Given the description of an element on the screen output the (x, y) to click on. 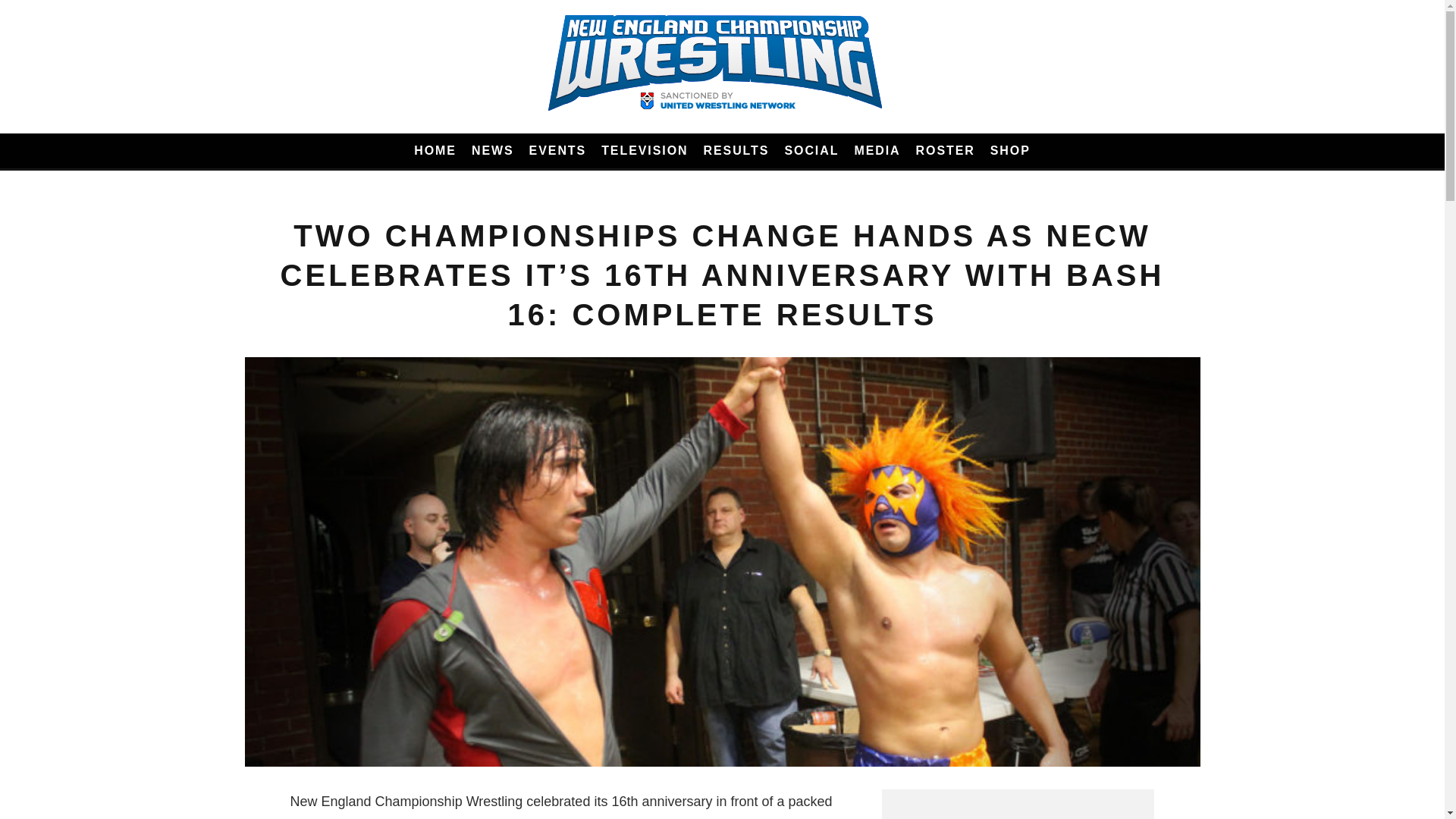
EVENTS (557, 150)
SOCIAL (810, 150)
TELEVISION (644, 150)
ROSTER (945, 150)
RESULTS (735, 150)
MEDIA (876, 150)
NEWS (492, 150)
HOME (435, 150)
